Given the description of an element on the screen output the (x, y) to click on. 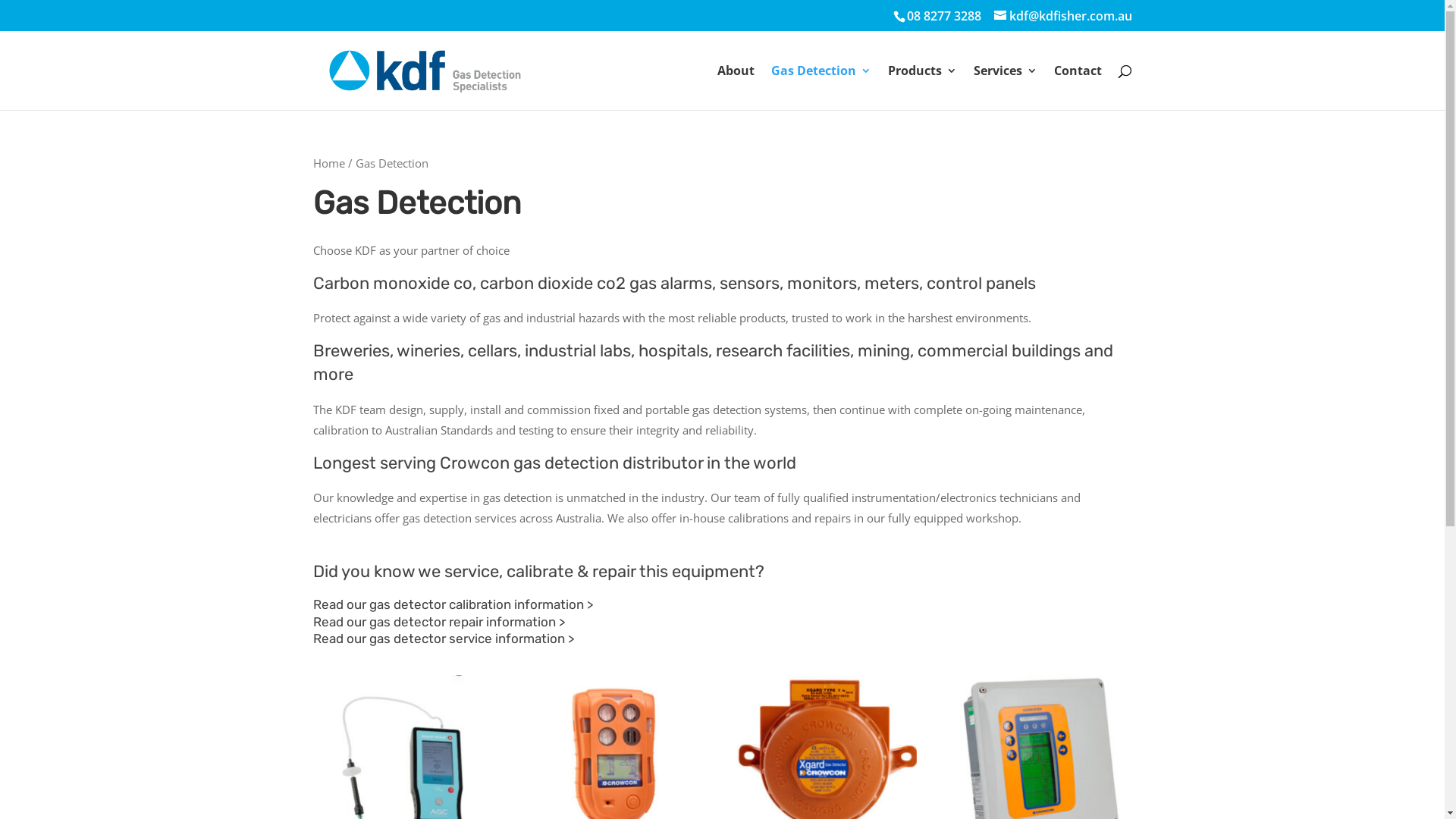
Read our gas detector calibration information > Element type: text (452, 603)
08 8277 3288 Element type: text (943, 15)
Home Element type: text (328, 162)
kdf@kdfisher.com.au Element type: text (1062, 15)
Services Element type: text (1005, 87)
Read our gas detector repair information > Element type: text (438, 621)
Read our gas detector service information > Element type: text (442, 638)
About Element type: text (735, 87)
Products Element type: text (921, 87)
Contact Element type: text (1077, 87)
Gas Detection Element type: text (820, 87)
